Given the description of an element on the screen output the (x, y) to click on. 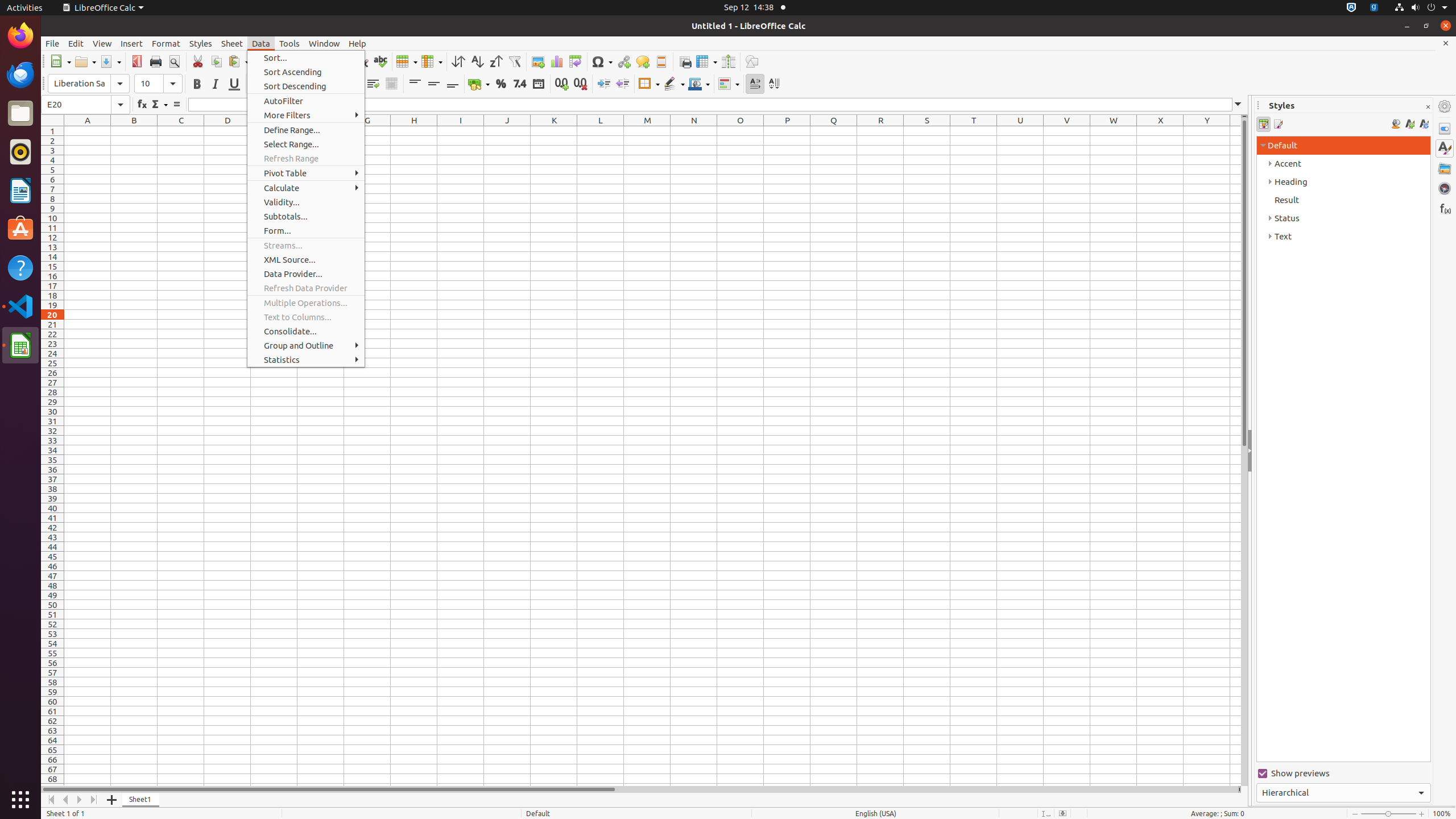
Streams... Element type: menu-item (305, 245)
LibreOffice Calc Element type: menu (102, 7)
Form... Element type: menu-item (305, 230)
Move To End Element type: push-button (94, 799)
A1 Element type: table-cell (87, 130)
